Given the description of an element on the screen output the (x, y) to click on. 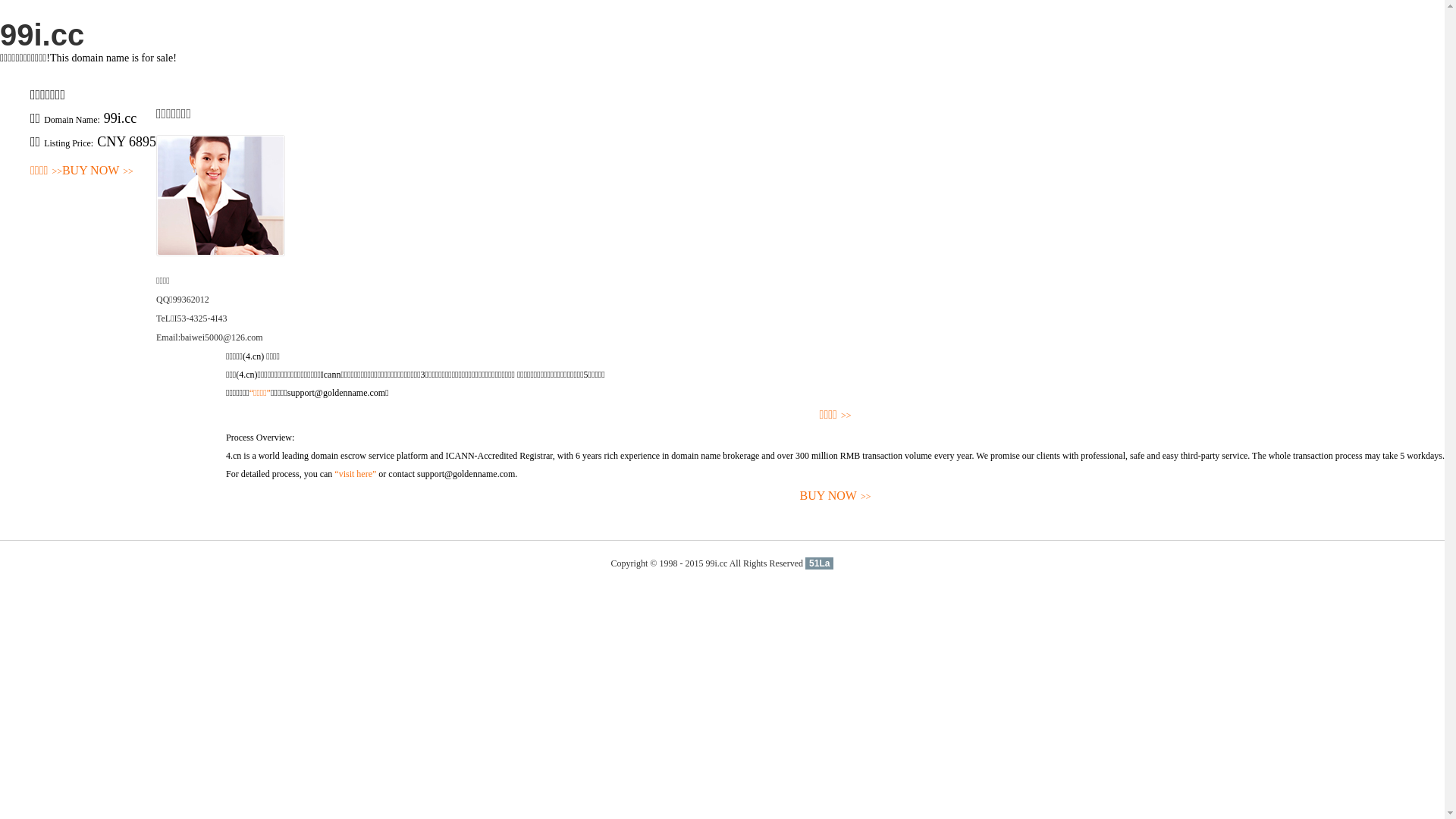
BUY NOW>> Element type: text (97, 170)
BUY NOW>> Element type: text (834, 496)
51La Element type: text (819, 563)
